Given the description of an element on the screen output the (x, y) to click on. 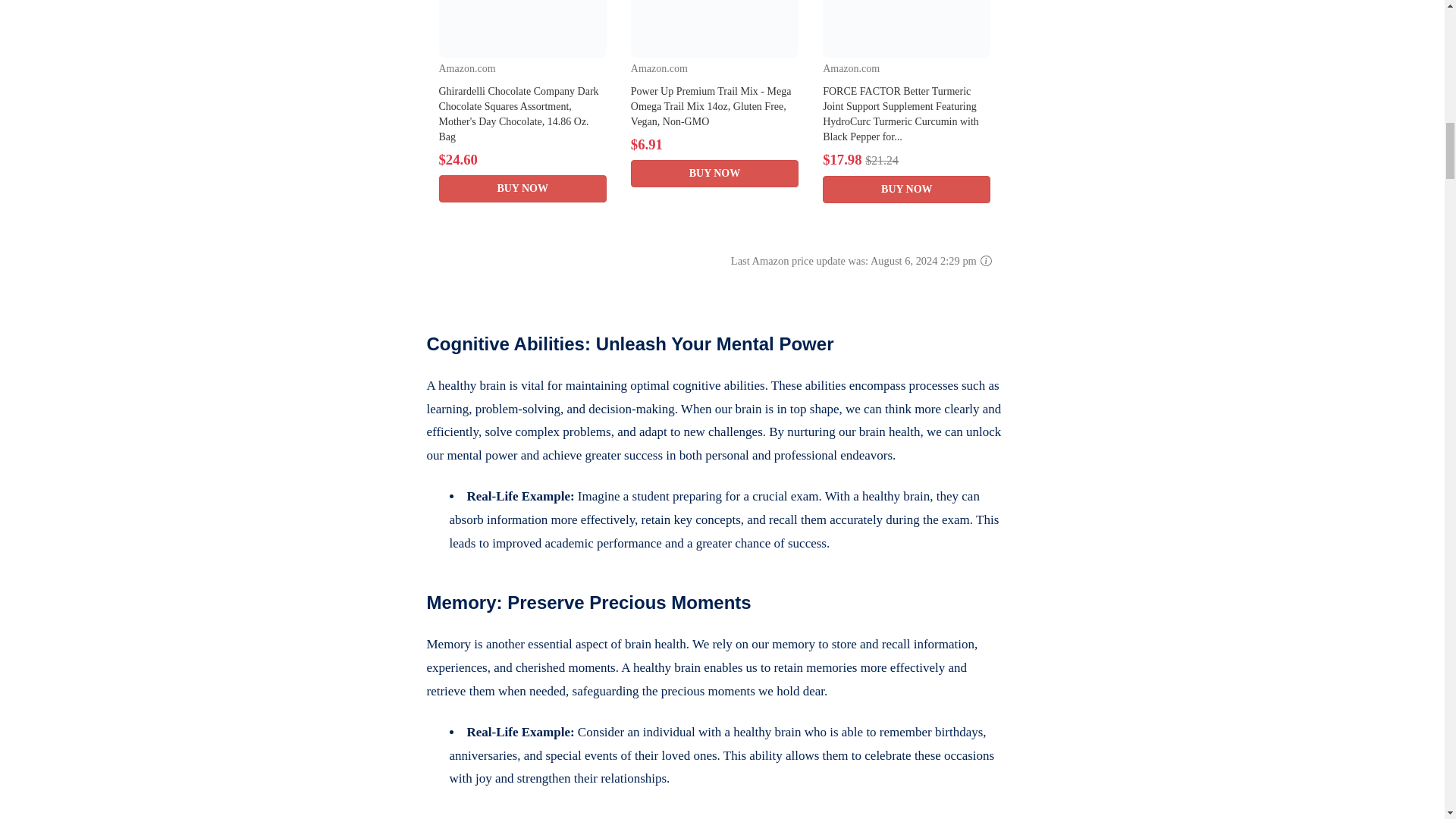
BUY NOW (521, 188)
BUY NOW (713, 173)
BUY NOW (906, 189)
